Given the description of an element on the screen output the (x, y) to click on. 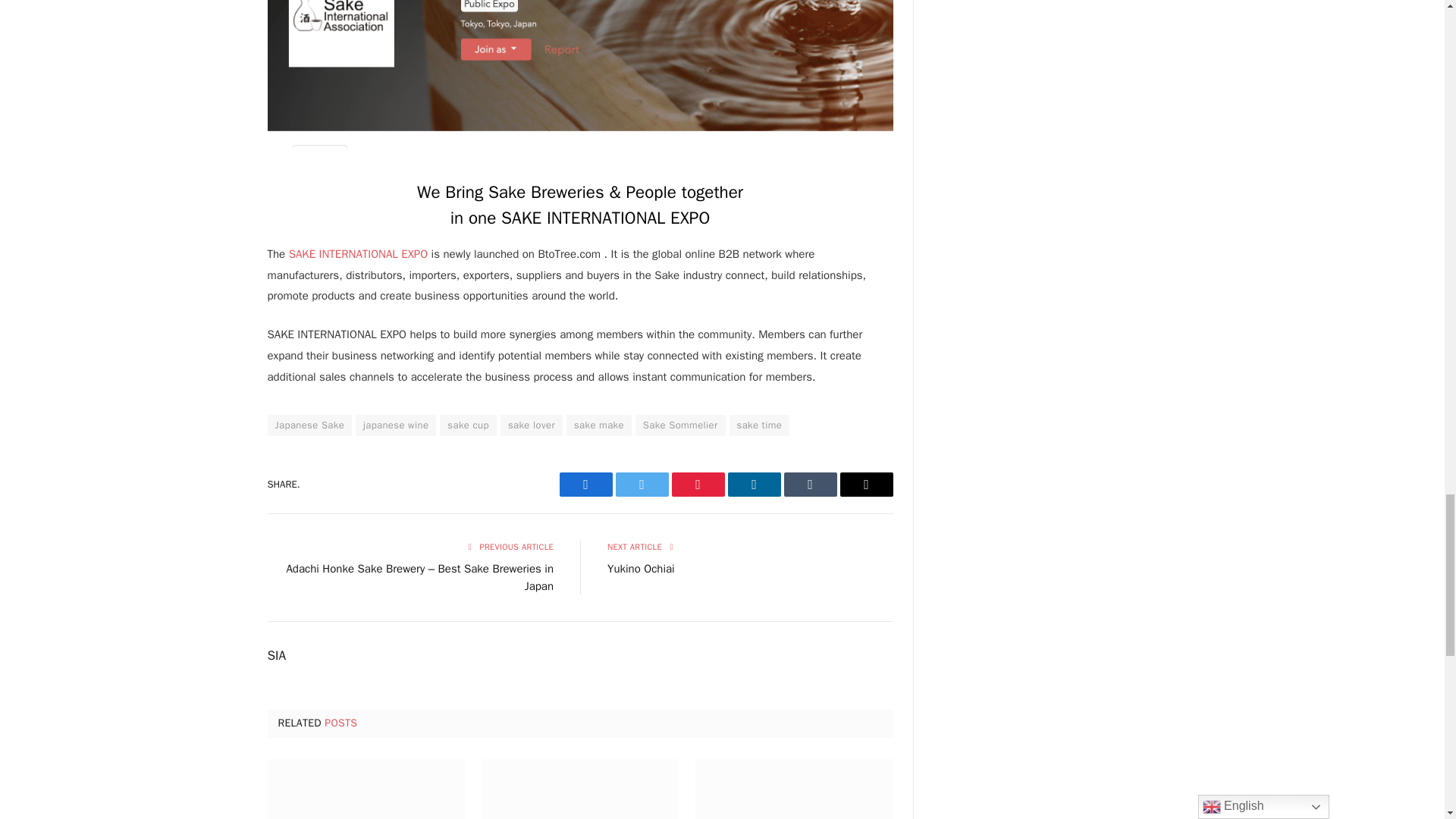
Share on Facebook (585, 484)
Share on Pinterest (698, 484)
Share via Email (866, 484)
Share on Tumblr (810, 484)
japanese wine (395, 424)
Share on LinkedIn (754, 484)
SAKE INTERNATIONAL EXPO (358, 254)
Japanese Sake (309, 424)
Posts by SIA (275, 655)
